Given the description of an element on the screen output the (x, y) to click on. 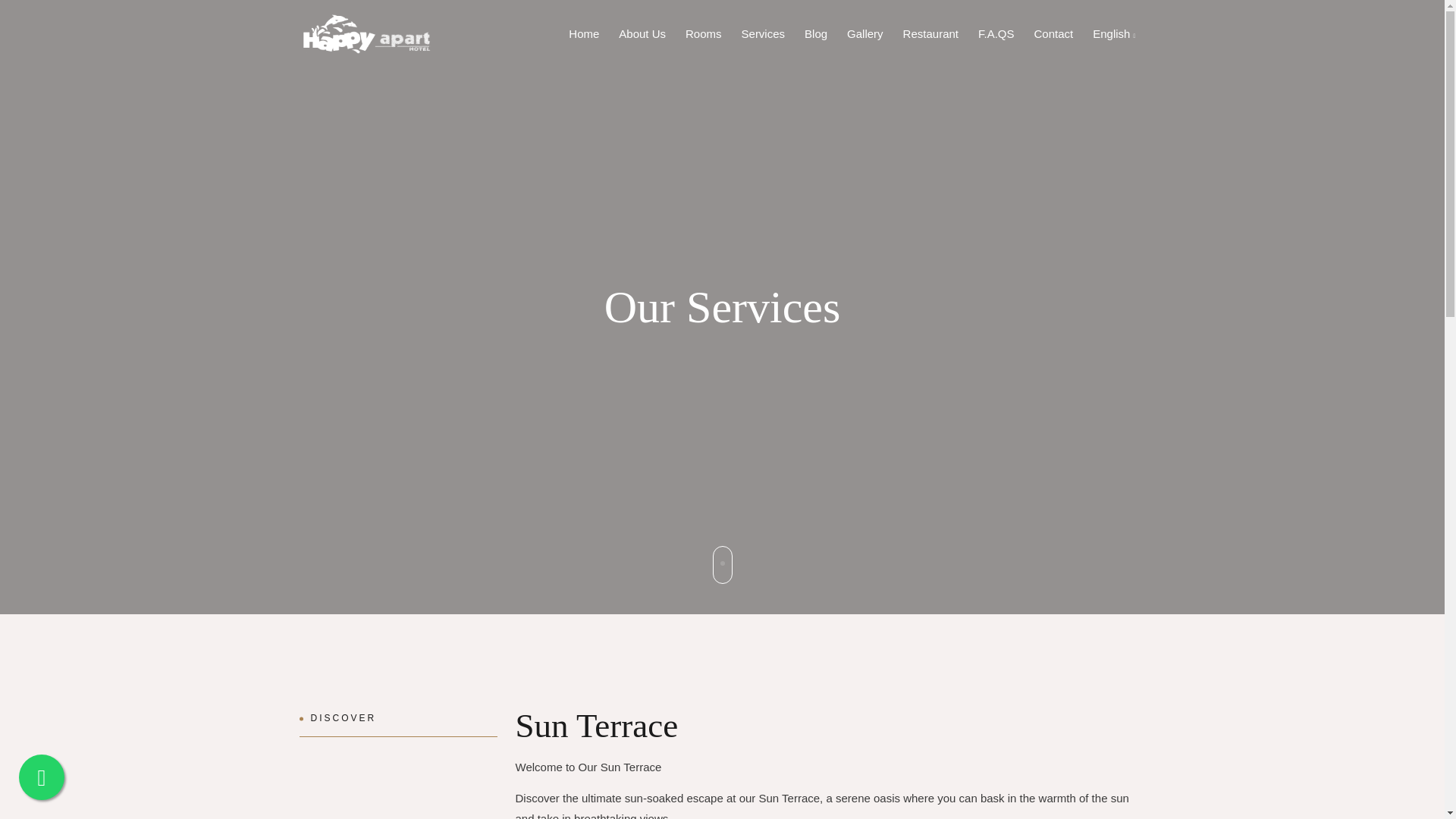
English (1113, 33)
Home (583, 33)
Contact (1054, 33)
Restaurant (930, 33)
Gallery (865, 33)
F.A.QS (996, 33)
About Us (642, 33)
Blog (814, 33)
Services (763, 33)
Rooms (703, 33)
